Given the description of an element on the screen output the (x, y) to click on. 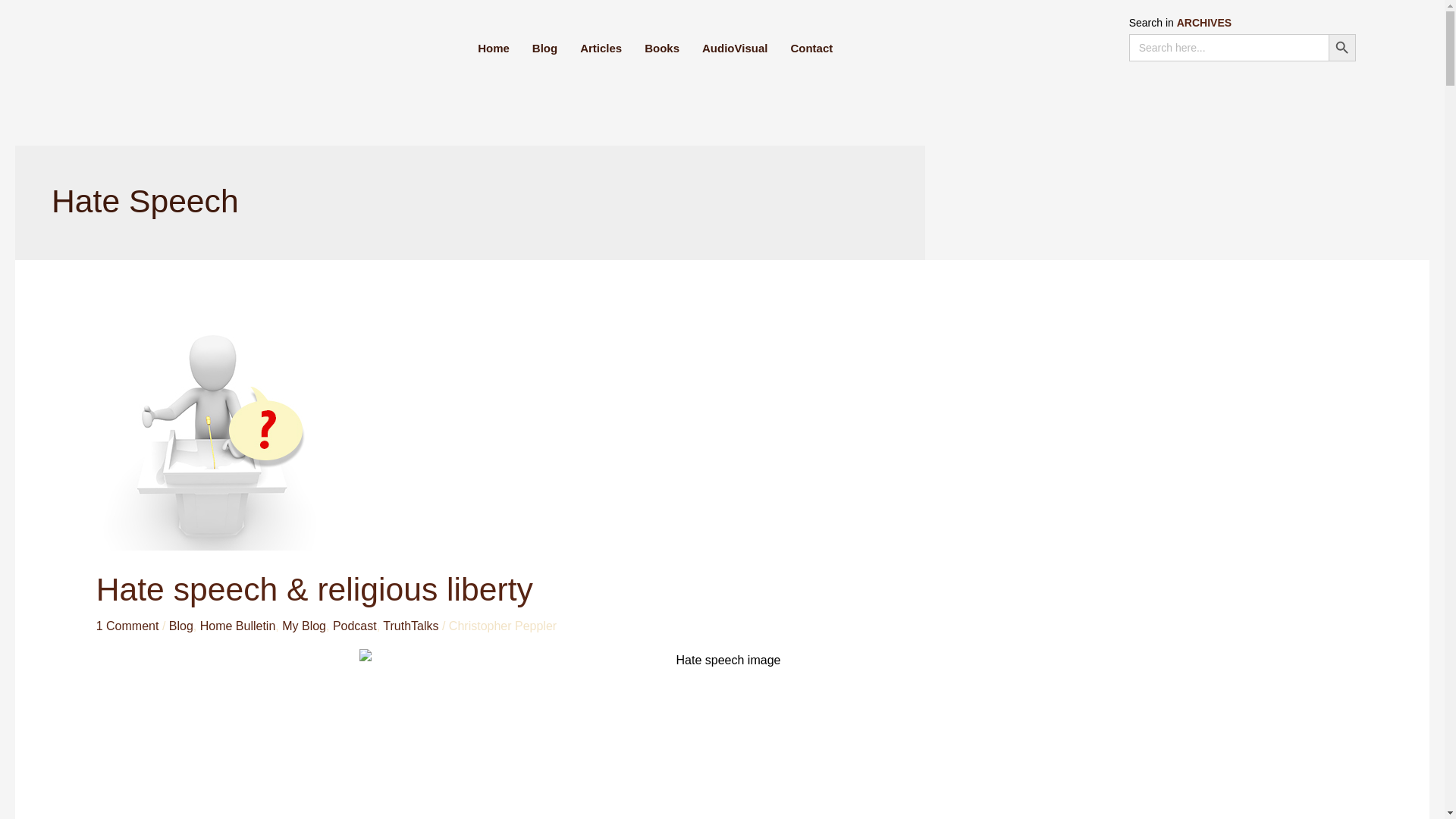
AudioVisual (734, 48)
ARCHIVES (1203, 22)
Christopher Peppler (502, 625)
Contact (811, 48)
Search Button (1341, 47)
TruthTalks (410, 625)
Blog (180, 625)
Home (493, 48)
Articles (601, 48)
Home Bulletin (238, 625)
Podcast (355, 625)
View all posts by Christopher Peppler (502, 625)
1 Comment (127, 625)
Books (661, 48)
My Blog (304, 625)
